Given the description of an element on the screen output the (x, y) to click on. 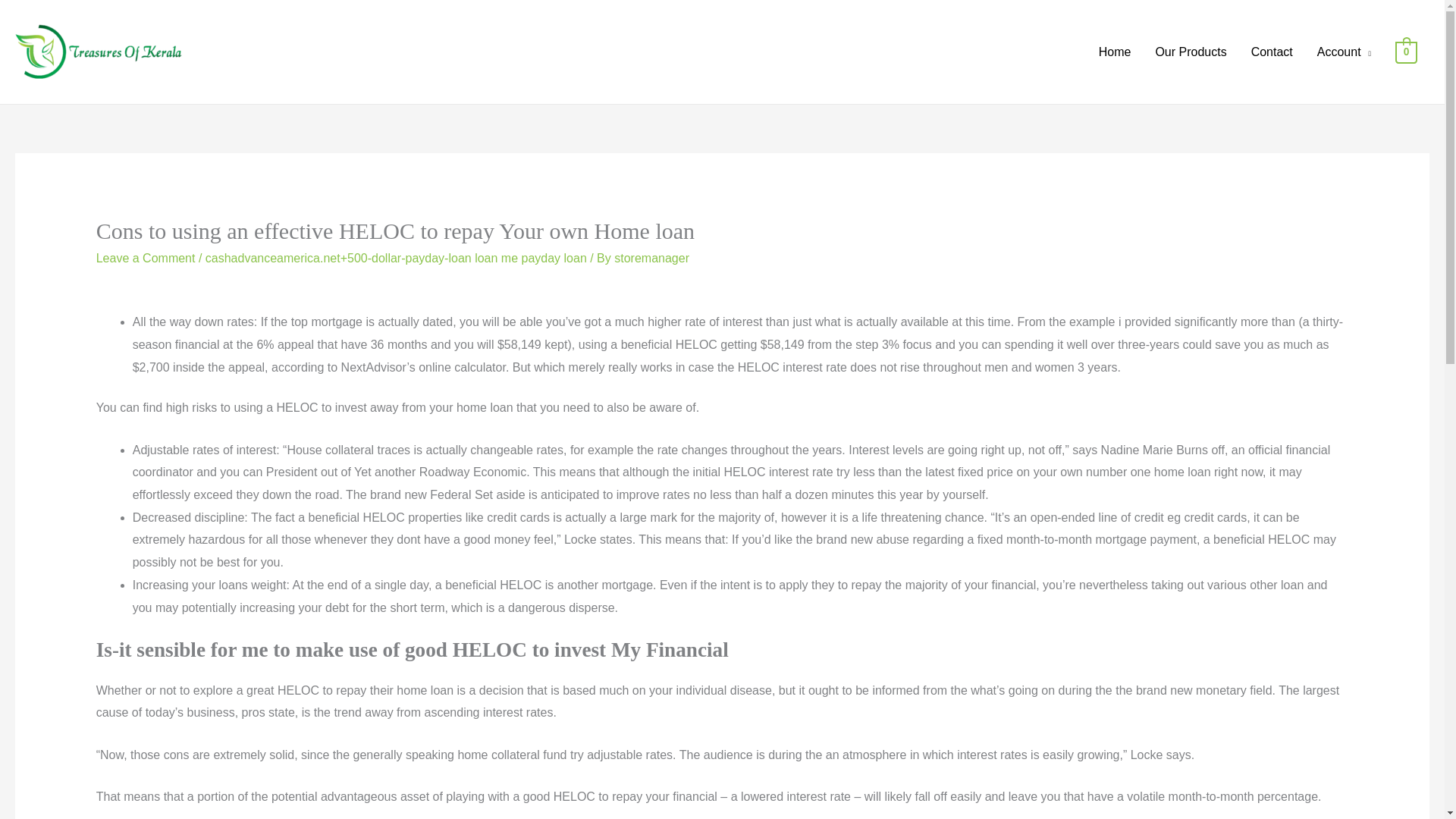
View your shopping cart (1405, 51)
Account (1343, 51)
Our Products (1190, 51)
storemanager (651, 257)
Leave a Comment (145, 257)
Home (1114, 51)
0 (1405, 51)
View all posts by storemanager (651, 257)
Contact (1271, 51)
